Given the description of an element on the screen output the (x, y) to click on. 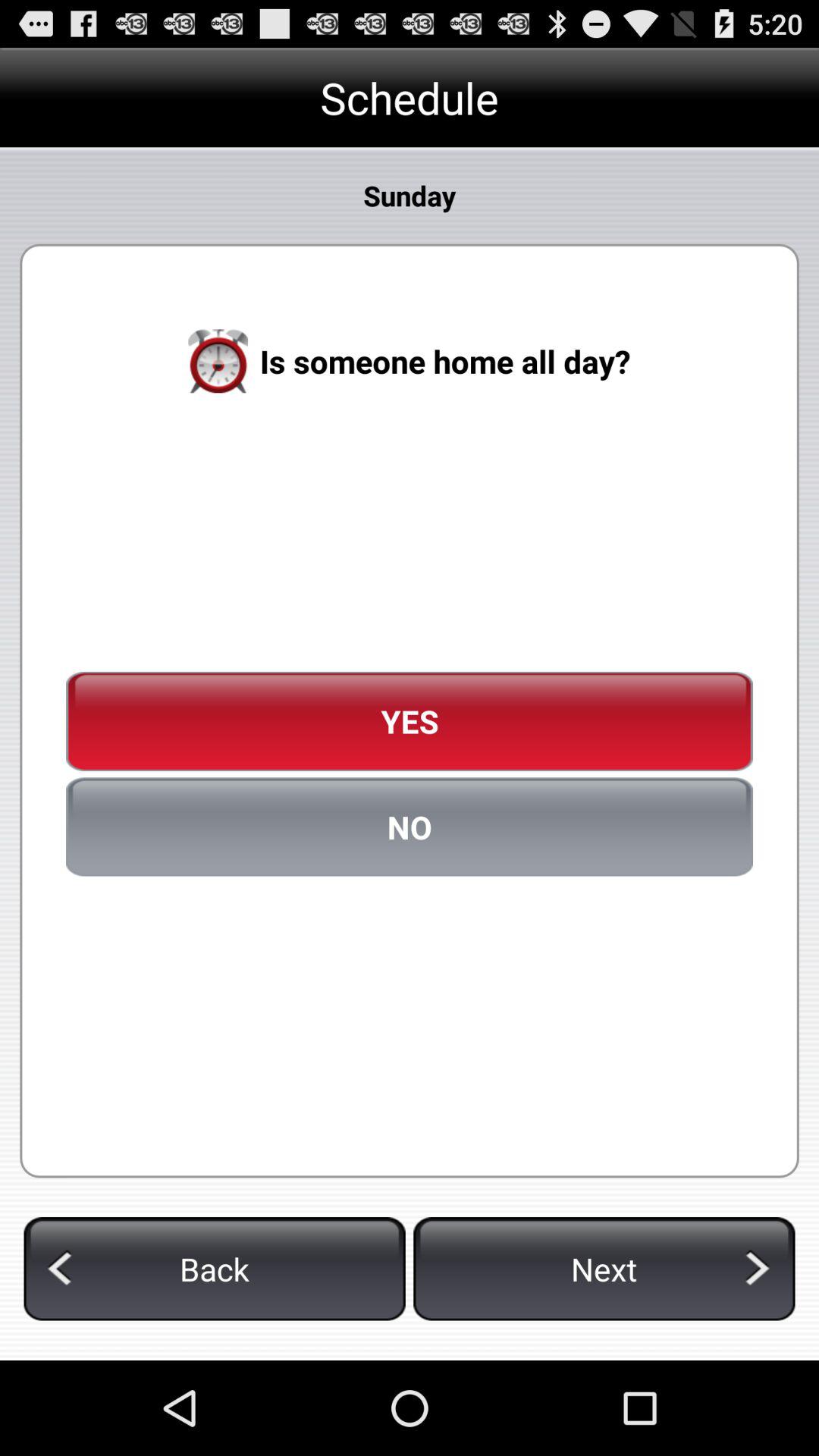
select next item (604, 1268)
